Given the description of an element on the screen output the (x, y) to click on. 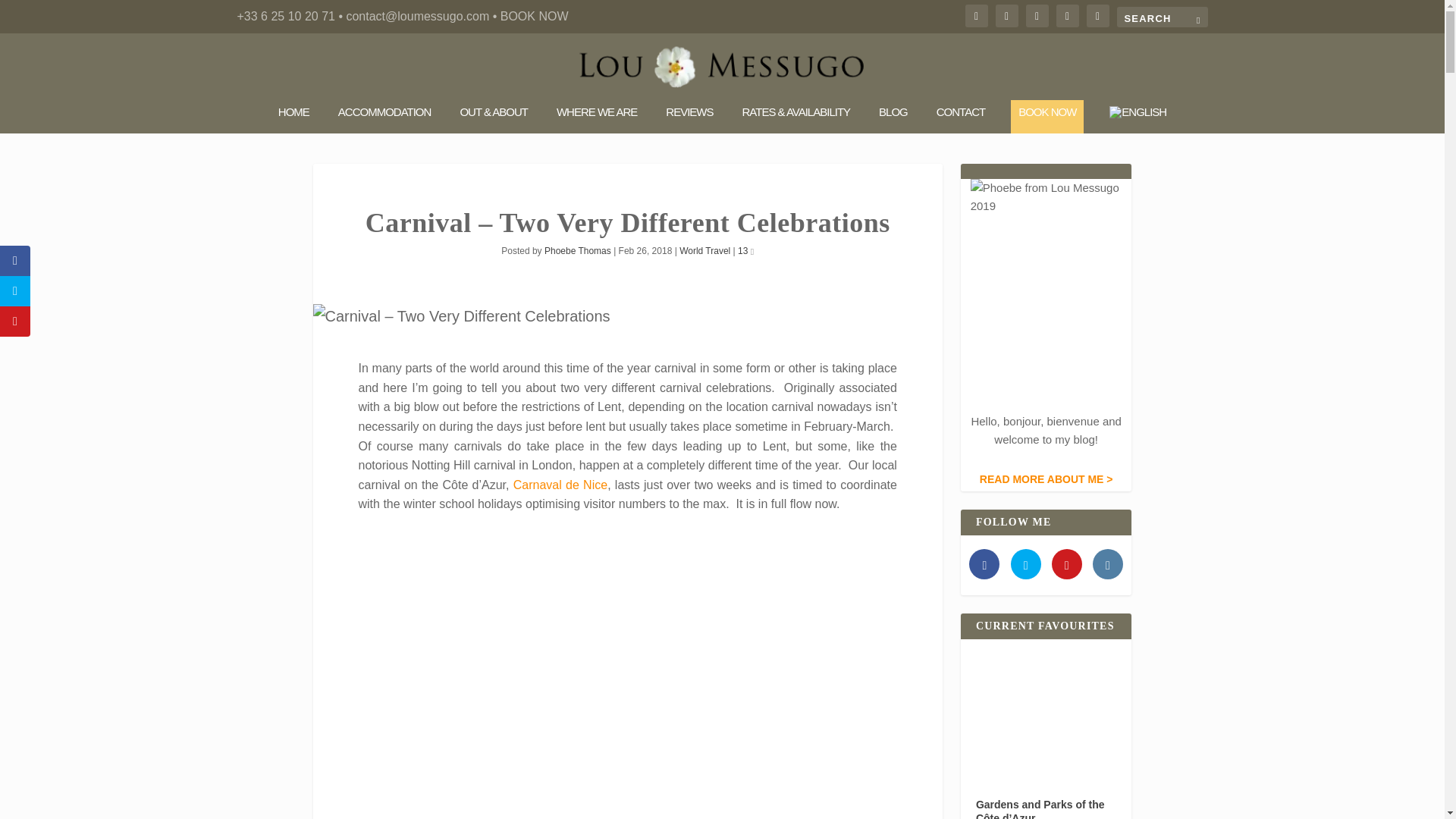
HOME (294, 116)
Posts by Phoebe Thomas (577, 250)
WHERE WE ARE (596, 116)
Carnaval de Nice (560, 484)
Phoebe Thomas (577, 250)
BLOG (893, 116)
CONTACT (960, 116)
REVIEWS (689, 116)
13 (746, 250)
Search for: (1161, 16)
BOOK NOW (1046, 116)
World Travel (704, 250)
ACCOMMODATION (383, 116)
